Given the description of an element on the screen output the (x, y) to click on. 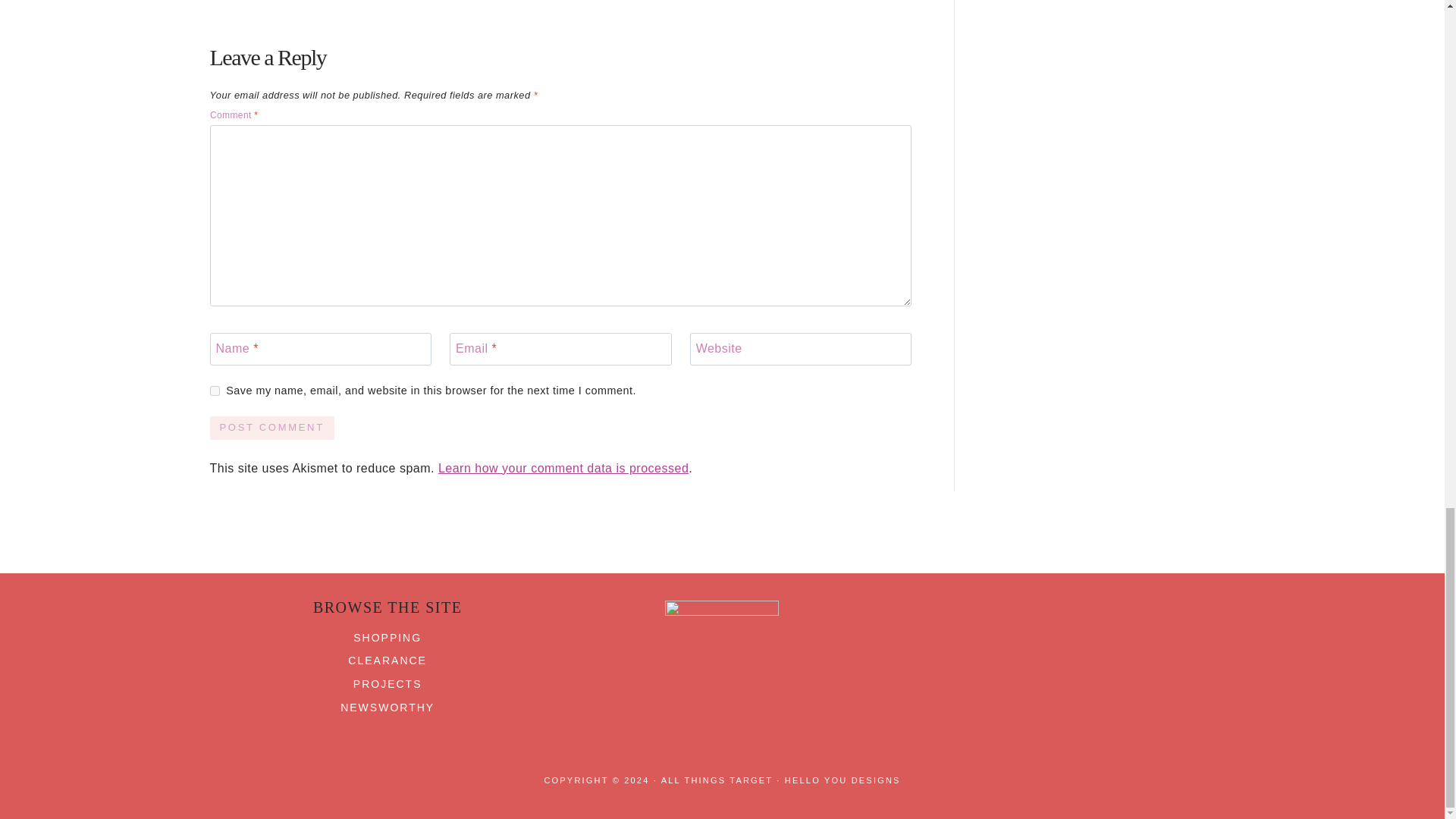
yes (214, 390)
Post Comment (271, 427)
